Given the description of an element on the screen output the (x, y) to click on. 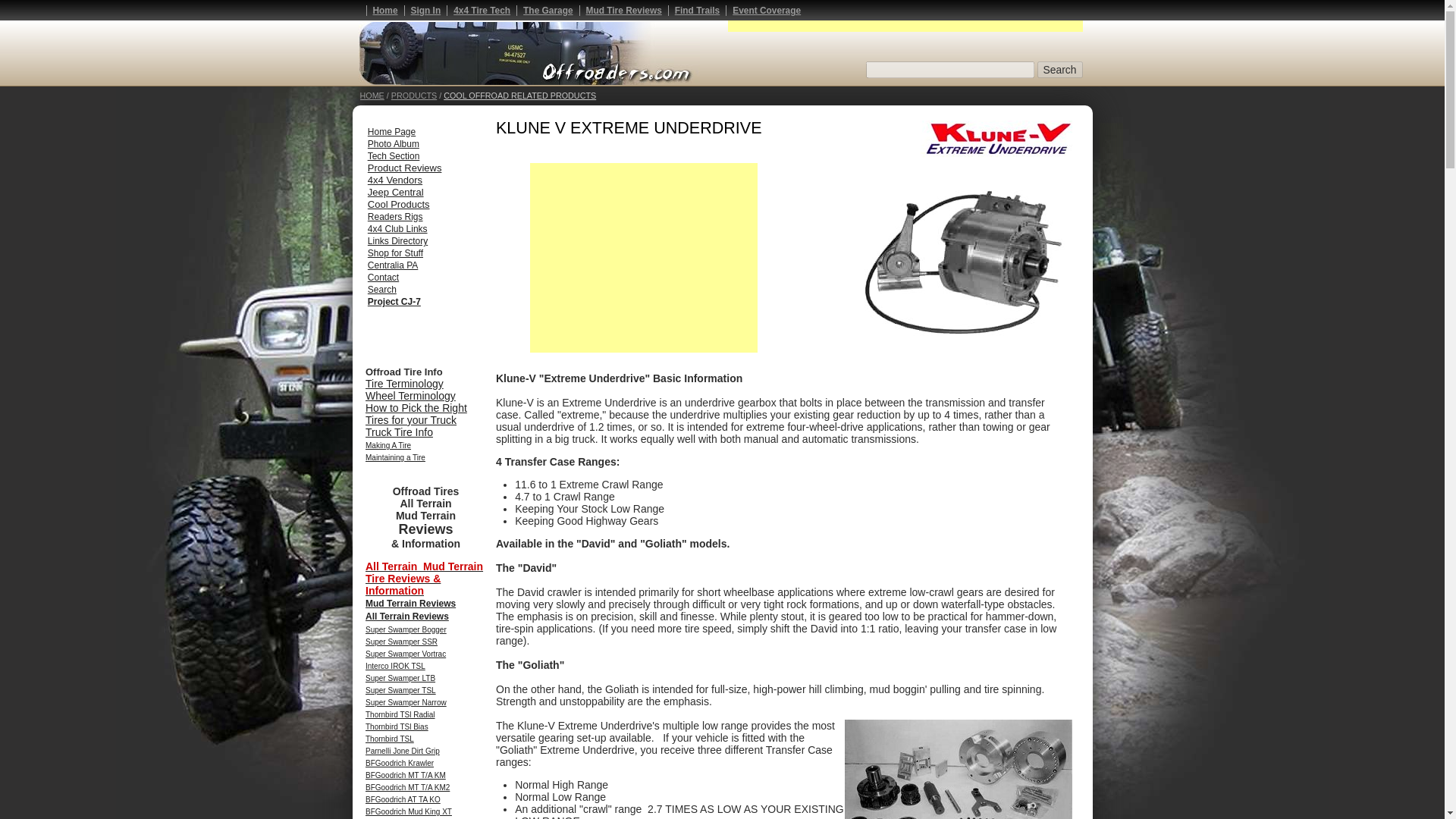
All Terrain Reviews (406, 615)
4x4 Club Links (398, 228)
Sign In (425, 9)
Find Trails (697, 9)
Cool Products (398, 204)
Take Me Home (391, 131)
4x4 Tire Tech (481, 9)
Event Coverage (766, 9)
Search (382, 288)
Advertisement (643, 257)
COOL OFFROAD RELATED PRODUCTS (519, 94)
Mud Terrain Reviews (410, 603)
Links Directory (398, 240)
Jeep Central (395, 192)
Super Swamper Vortrac (405, 653)
